Given the description of an element on the screen output the (x, y) to click on. 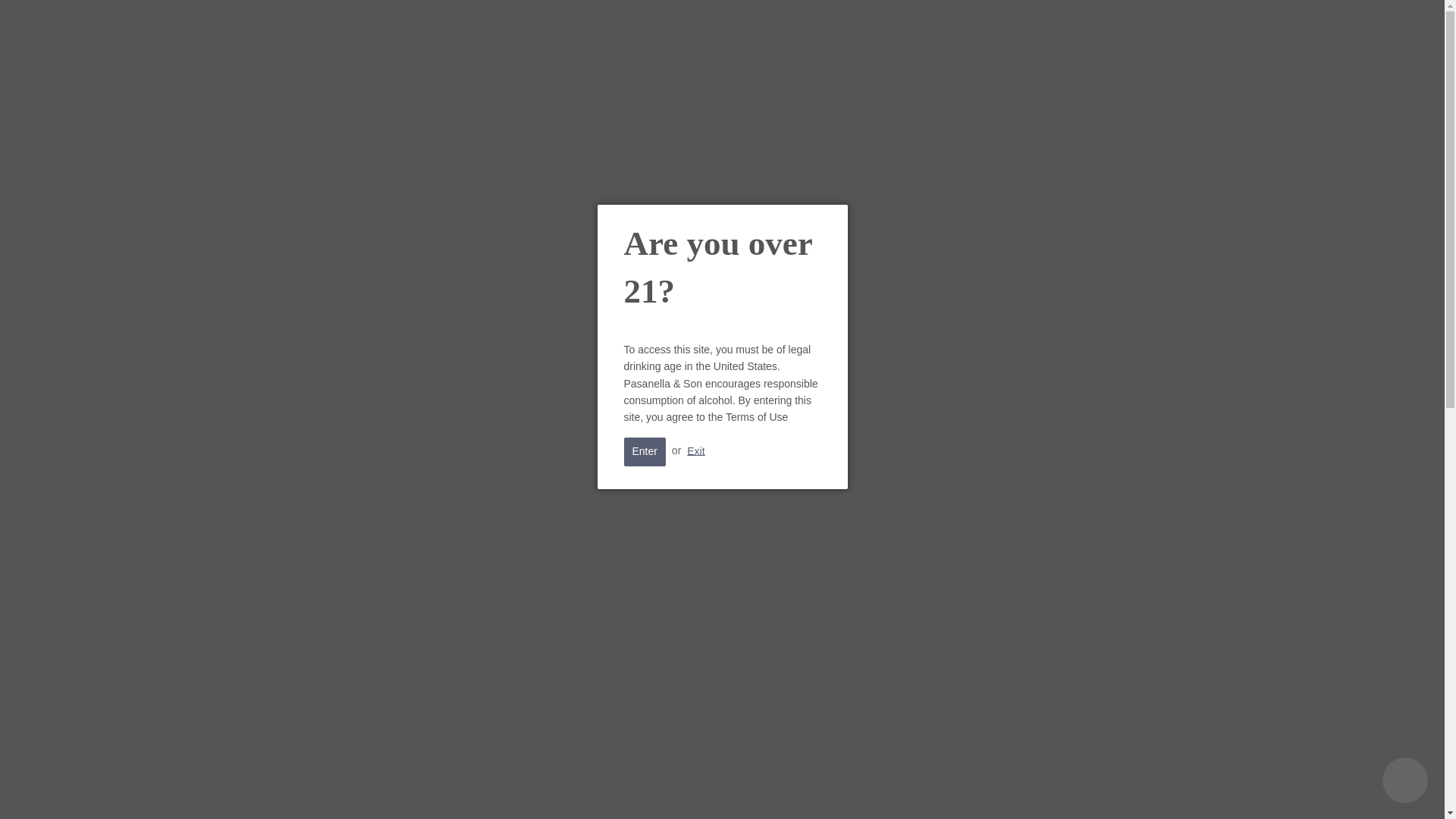
1 (1012, 606)
0 (1126, 64)
Exit (695, 450)
Enter (644, 451)
FREE IN-STORE TASTINGS EVERY THURSDAY 5:30-7:30PM (722, 10)
WINE (372, 127)
My Account (1061, 59)
